Given the description of an element on the screen output the (x, y) to click on. 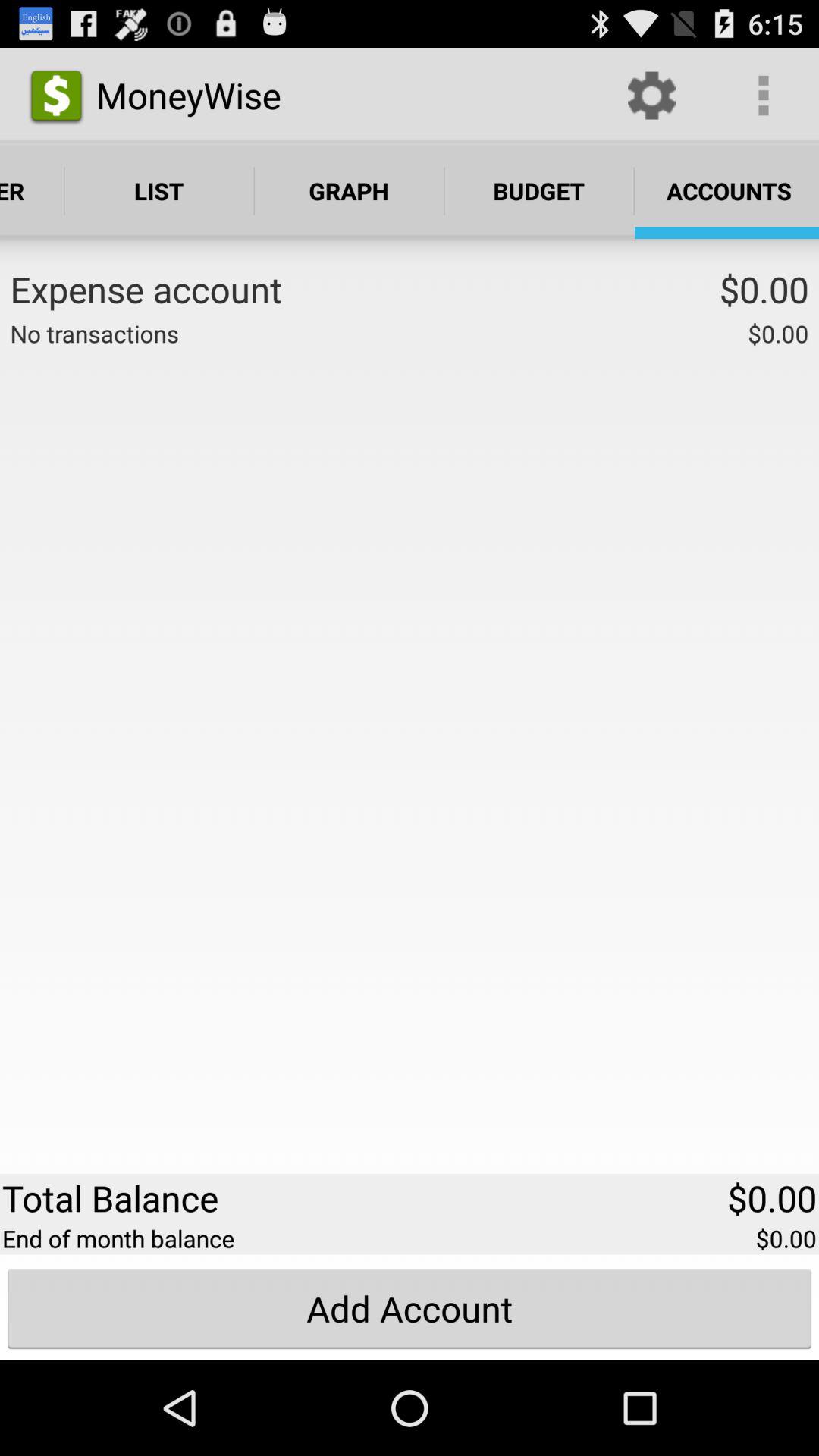
turn off the item below the end of month item (409, 1308)
